Given the description of an element on the screen output the (x, y) to click on. 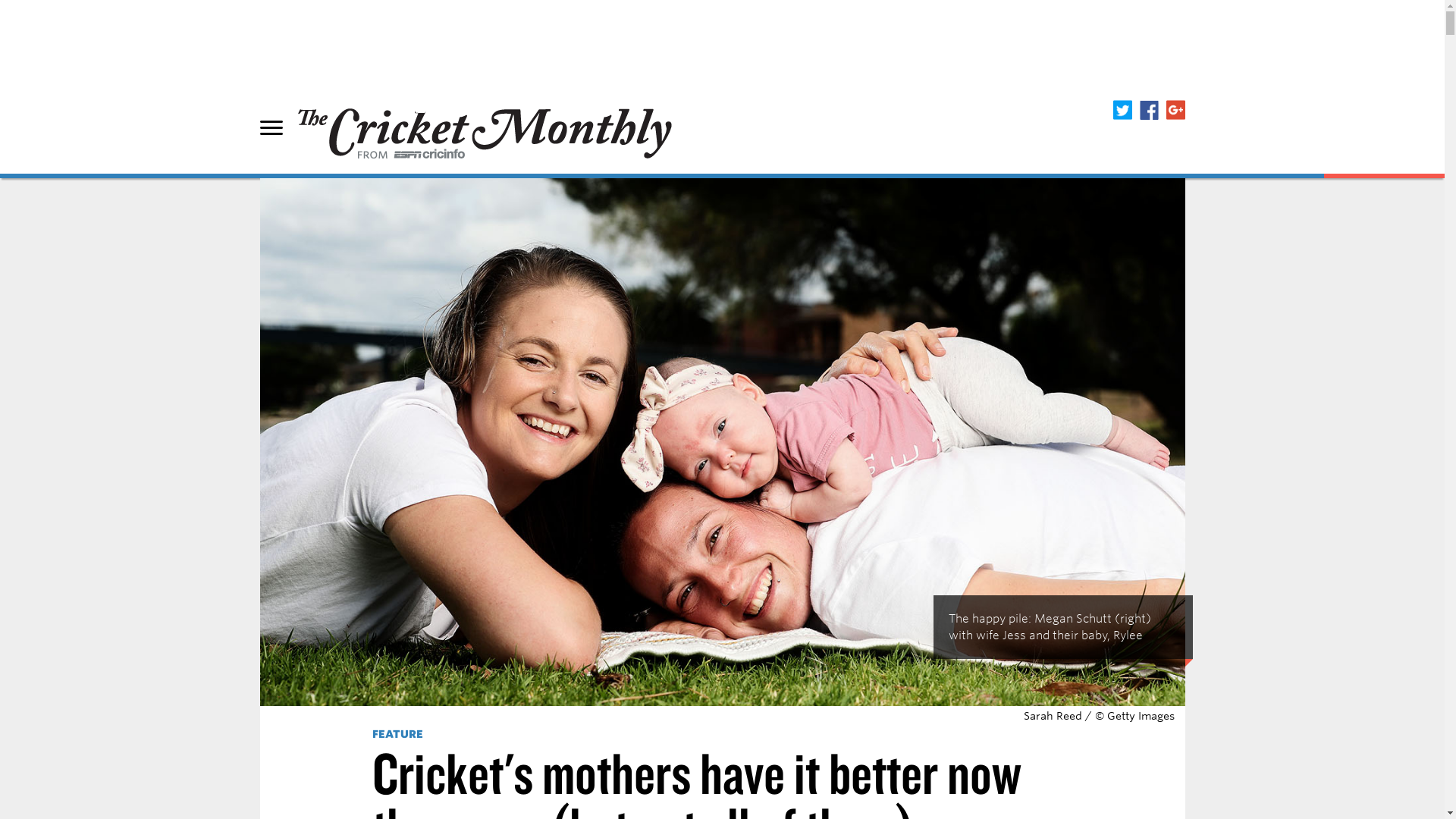
The Cricket Monthly (1175, 109)
The Cricket Monthly (1122, 109)
The Cricket Monthly (486, 125)
FEATURE (397, 734)
The Cricket Monthly (1147, 109)
3rd party ad content (721, 33)
The Cricket Monthly (486, 123)
